Given the description of an element on the screen output the (x, y) to click on. 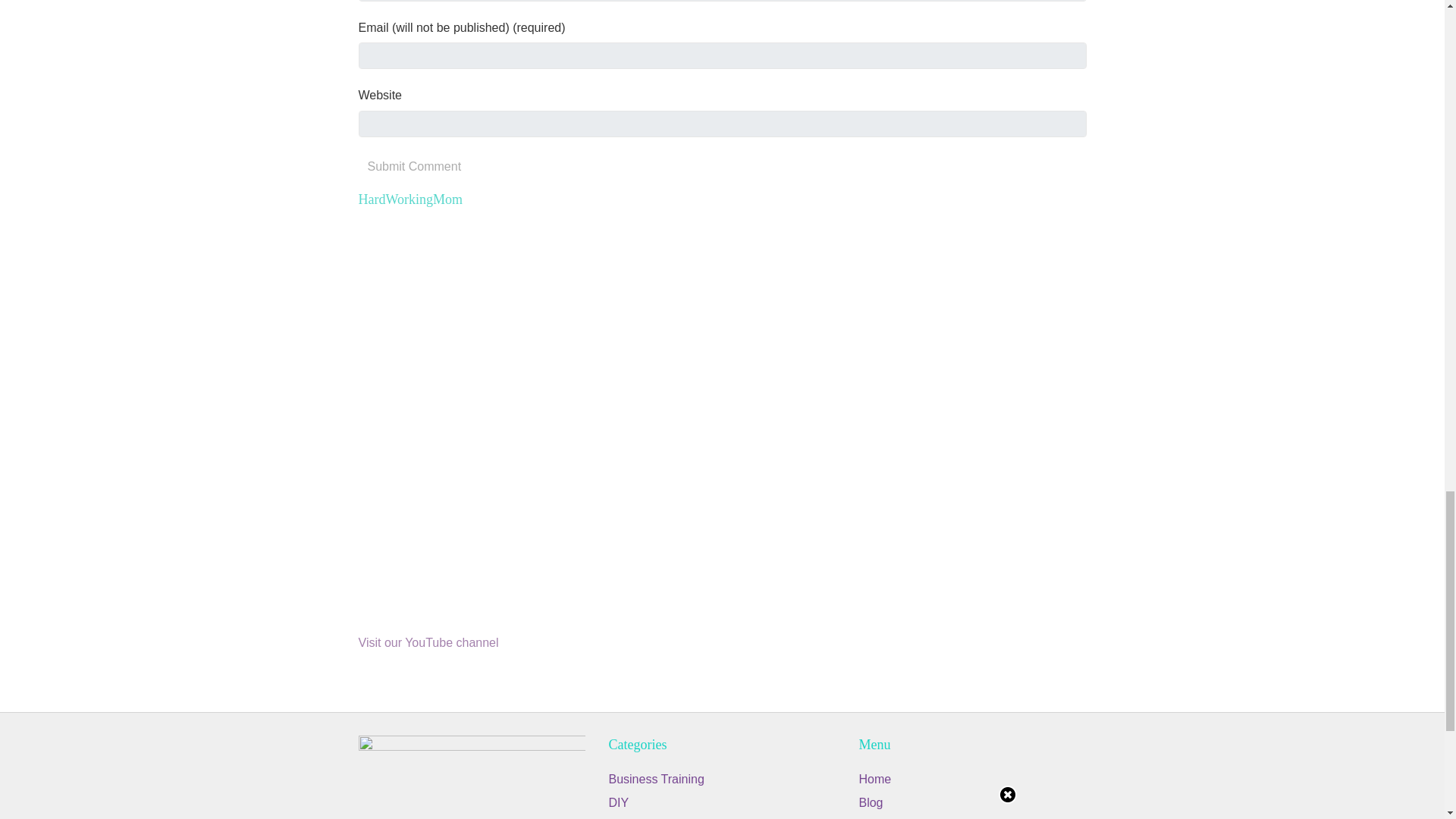
Visit our YouTube channel (427, 642)
Business Training (655, 779)
Visit our YouTube channel (427, 642)
Submit Comment (414, 166)
DIY (618, 802)
Submit Comment (414, 166)
